Given the description of an element on the screen output the (x, y) to click on. 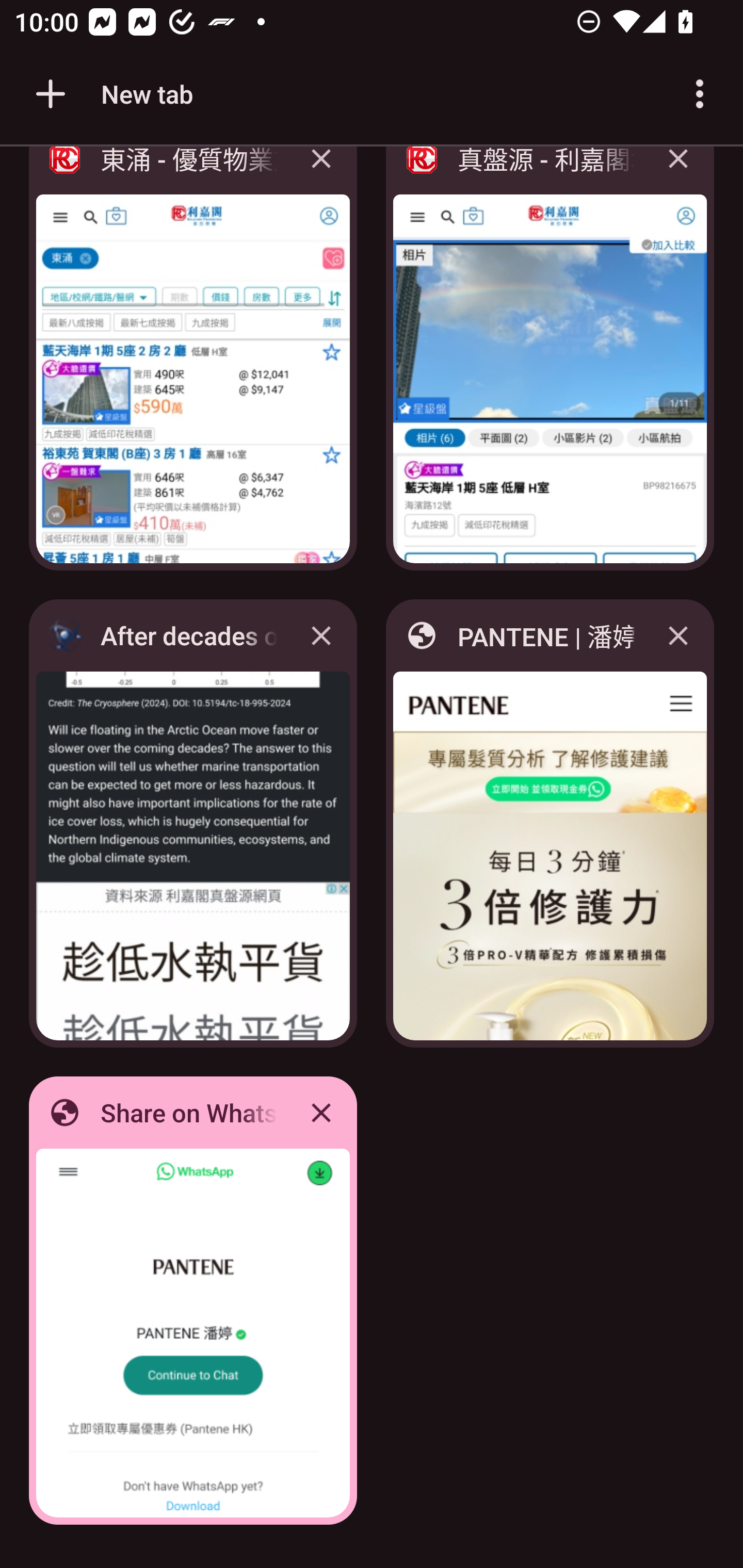
New tab (111, 93)
Customize and control Google Chrome (699, 93)
Close 東涌 - 優質物業放售 | 東涌 | 二手售盤 - 利嘉閣地產 tab (320, 173)
Close 真盤源 - 利嘉閣地產 - 東涌 藍天海岸 1期 5座 tab (677, 173)
Close PANTENE | 潘婷 tab (677, 635)
Close Share on WhatsApp tab (320, 1112)
